Given the description of an element on the screen output the (x, y) to click on. 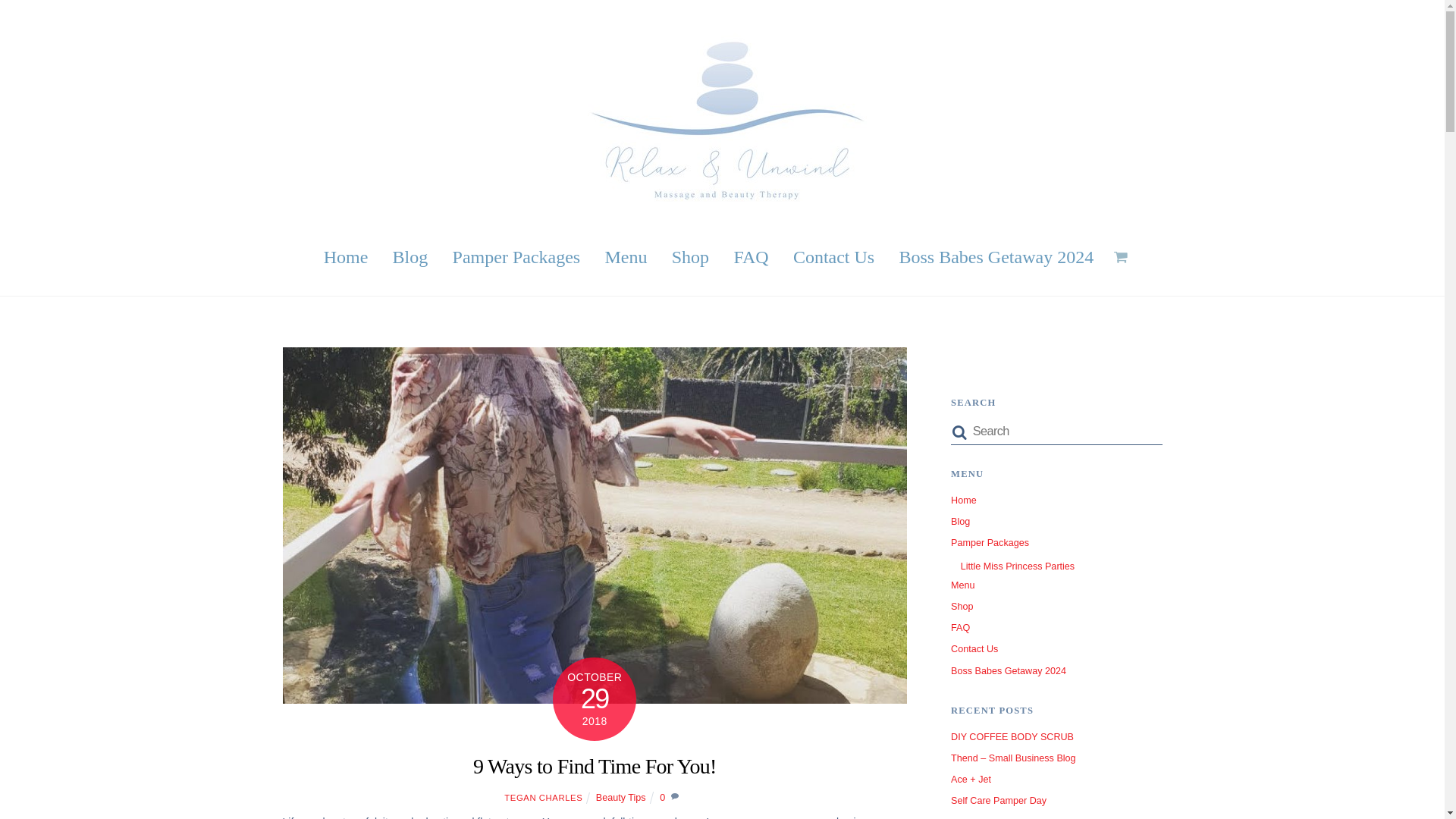
Menu (626, 256)
Blog (409, 256)
FAQ (750, 256)
Beauty Tips (620, 797)
Shop (690, 256)
Home (963, 500)
Blog (959, 521)
Boss Babes Getaway 2024 (995, 256)
9 Ways to Find Time For You! (594, 766)
Search (1055, 431)
